Given the description of an element on the screen output the (x, y) to click on. 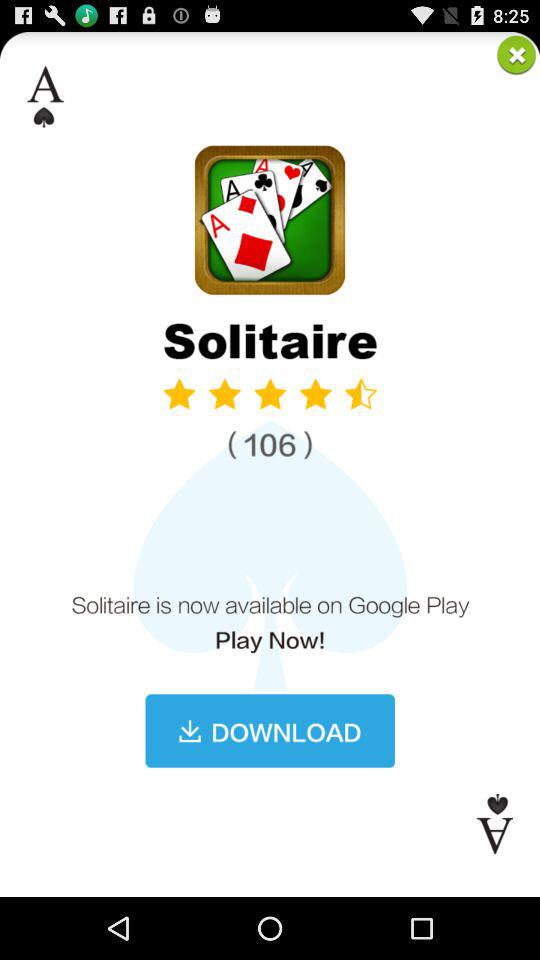
go to close (516, 54)
